Given the description of an element on the screen output the (x, y) to click on. 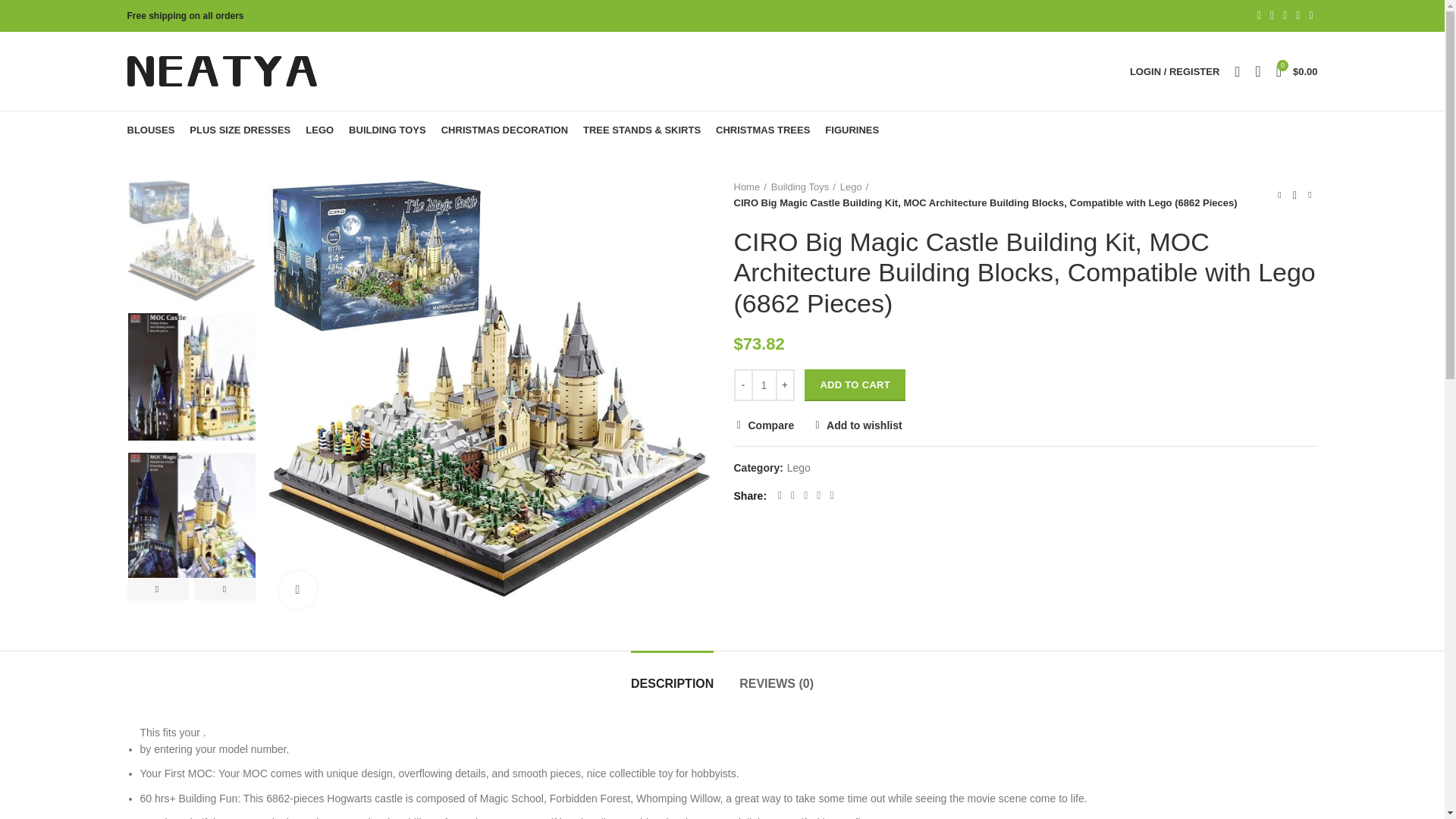
BUILDING TOYS (386, 130)
CHRISTMAS TREES (761, 130)
FIGURINES (851, 130)
My account (1174, 71)
PREVIOUS (158, 589)
CHRISTMAS DECORATION (504, 130)
Shopping cart (1296, 71)
BLOUSES (151, 130)
LEGO (319, 130)
Log in (1093, 312)
PLUS SIZE DRESSES (240, 130)
